Given the description of an element on the screen output the (x, y) to click on. 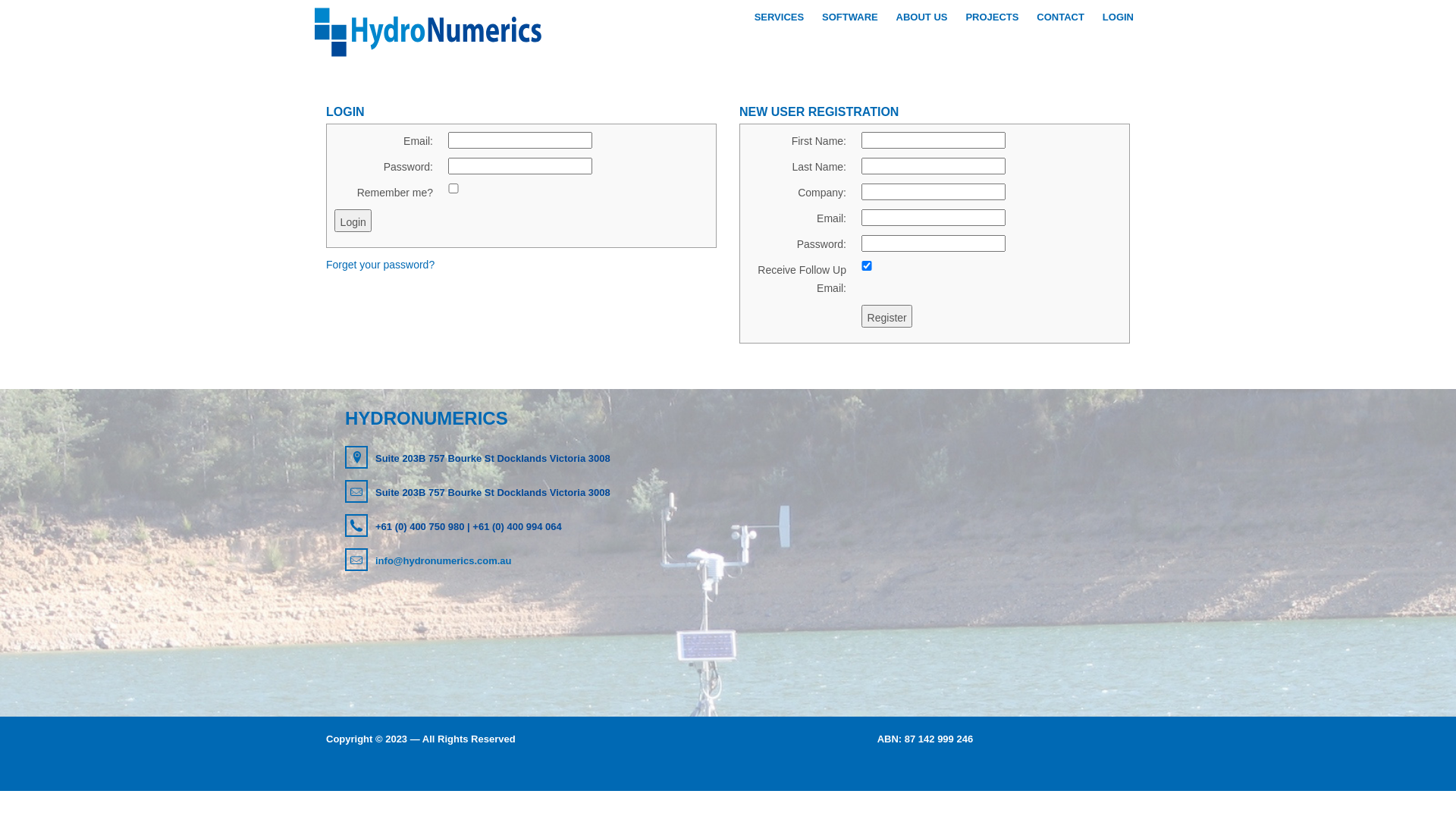
CONTACT Element type: text (1060, 17)
Forget your password? Element type: text (380, 264)
HYDRONUMERICS Element type: text (521, 418)
info@hydronumerics.com.au Element type: text (521, 558)
ABOUT US Element type: text (921, 17)
Hydronumerics Element type: text (428, 31)
SOFTWARE Element type: text (850, 17)
SERVICES Element type: text (779, 17)
PROJECTS Element type: text (991, 17)
LOGIN Element type: text (1117, 17)
Login Element type: text (352, 220)
Register Element type: text (886, 315)
